Given the description of an element on the screen output the (x, y) to click on. 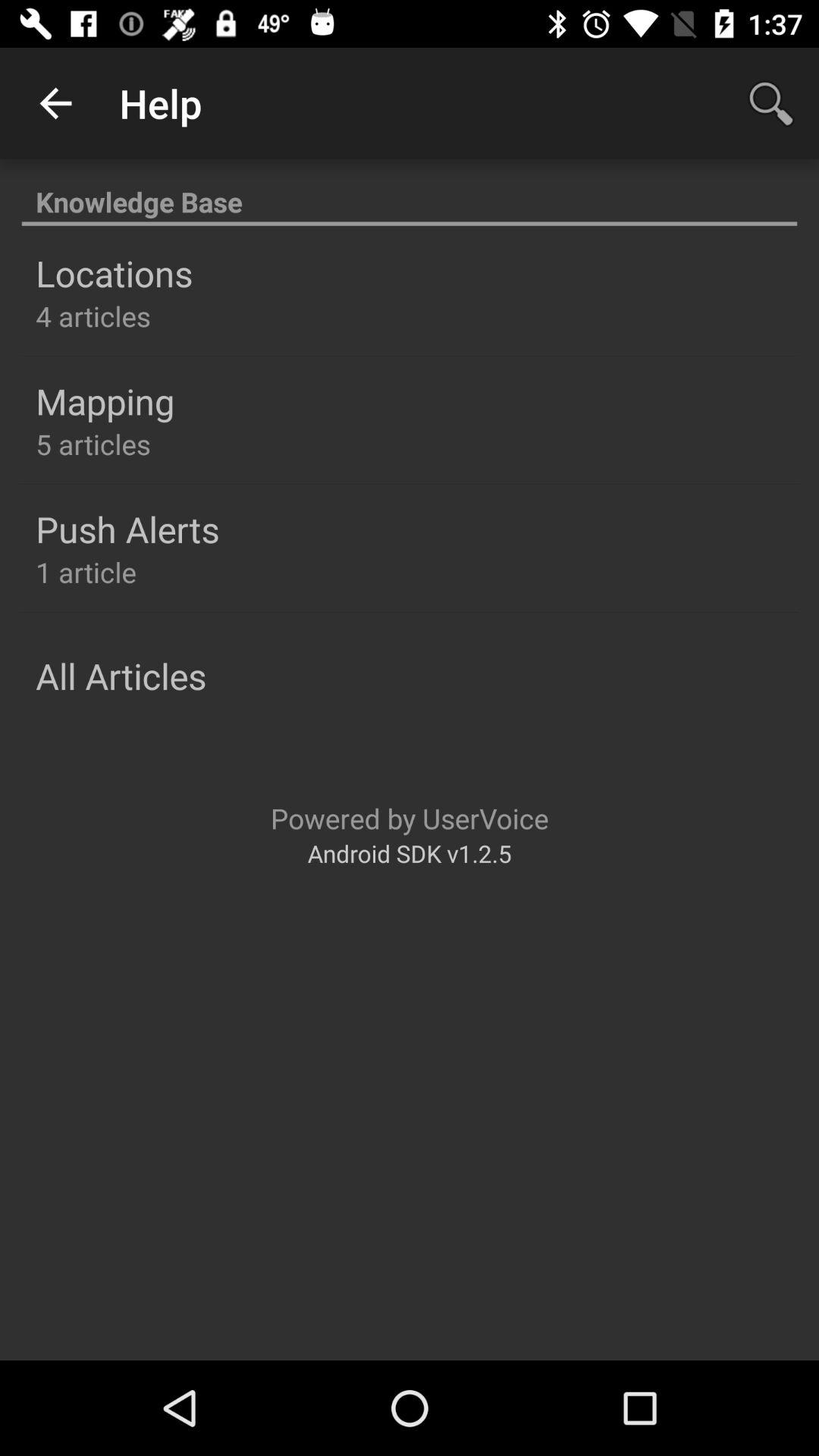
click item above android sdk v1 item (409, 818)
